Given the description of an element on the screen output the (x, y) to click on. 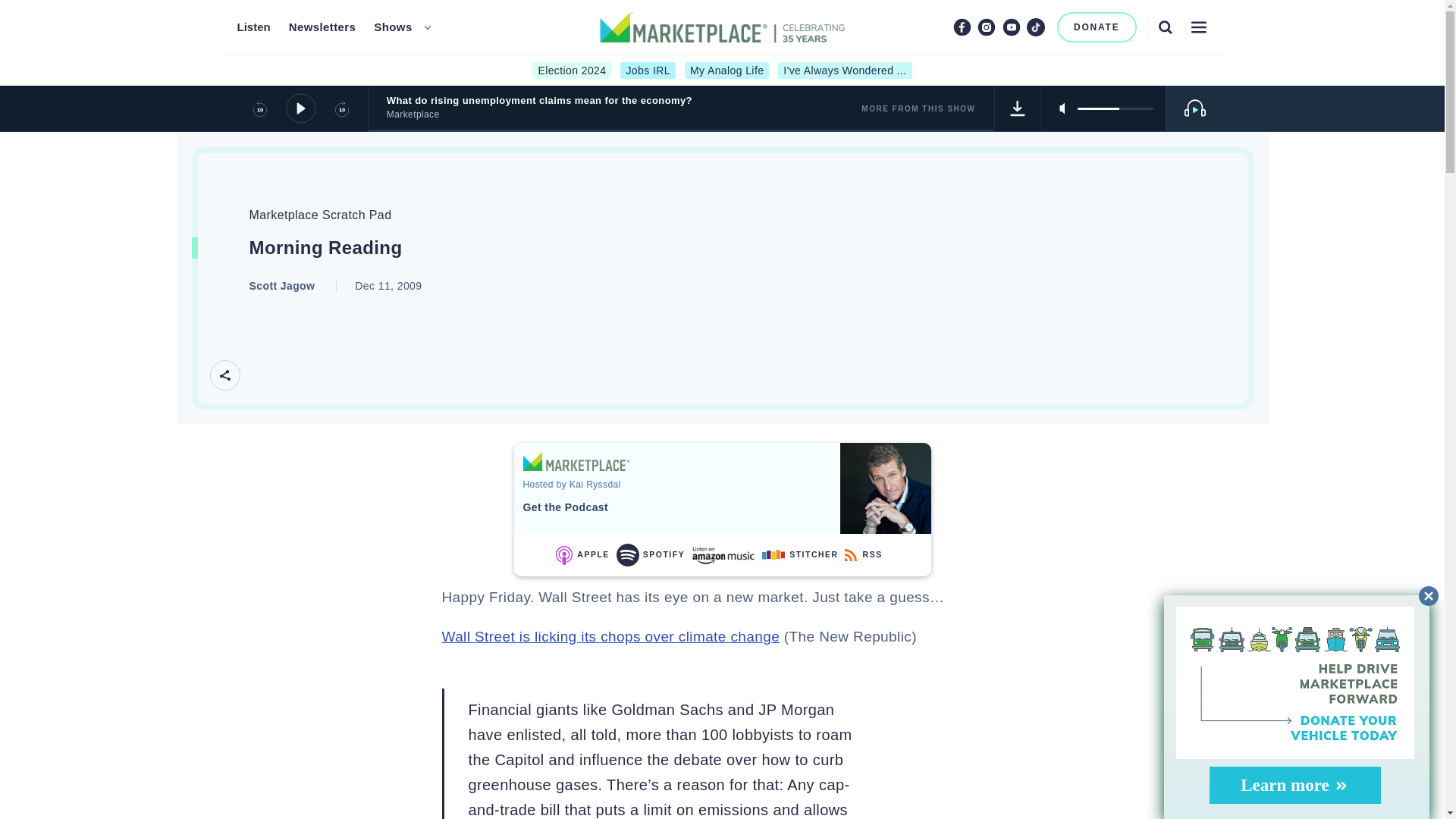
DONATE (1097, 27)
TikTok (1035, 27)
Search (1164, 27)
Youtube (1011, 27)
Shows (393, 26)
Menu (1198, 27)
Newsletters (322, 27)
Download Track (1017, 108)
Marketplace (575, 461)
Listen (252, 26)
volume (1115, 108)
Facebook (962, 27)
Instagram (985, 27)
5 (1115, 108)
